Given the description of an element on the screen output the (x, y) to click on. 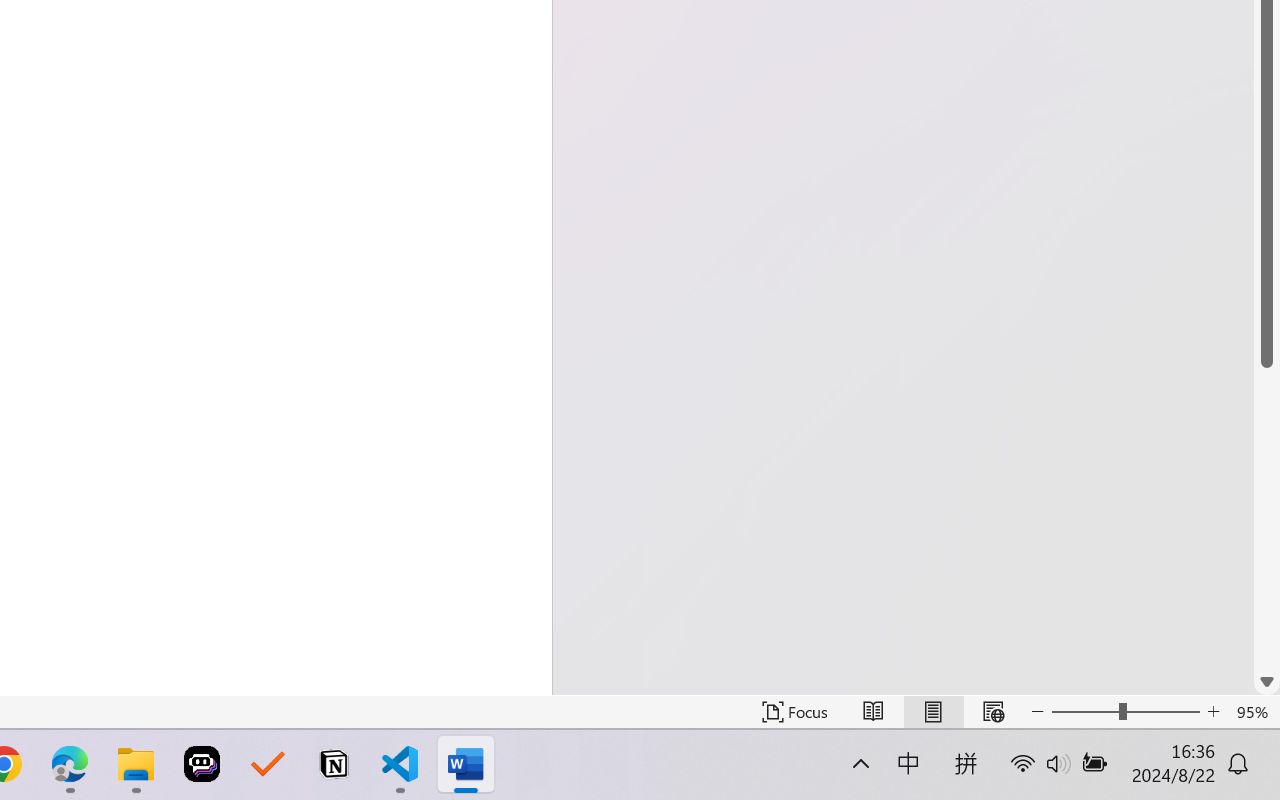
Line down (1267, 681)
Zoom 95% (1253, 712)
Page down (1267, 518)
